Given the description of an element on the screen output the (x, y) to click on. 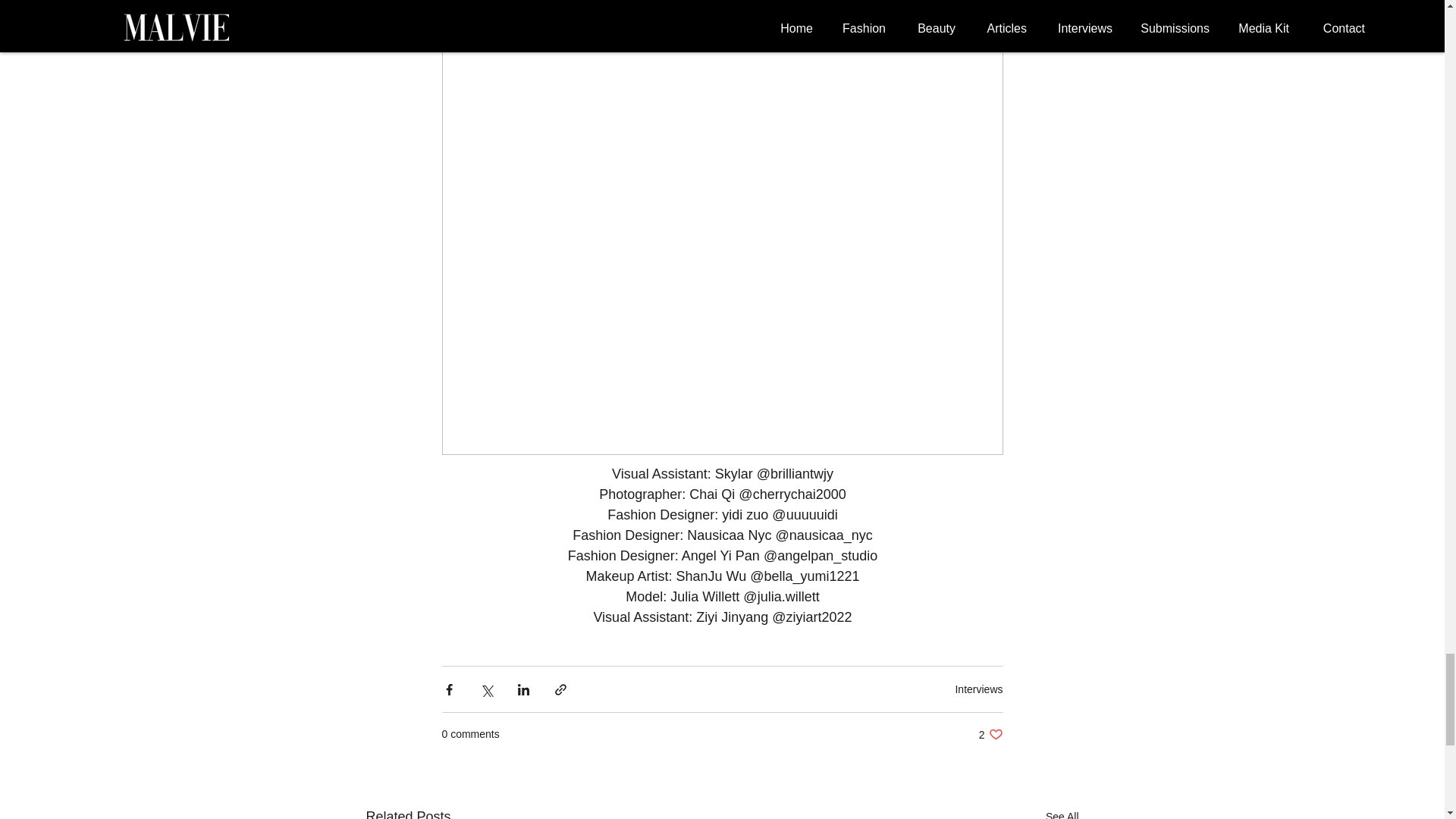
Interviews (990, 734)
See All (979, 689)
